Given the description of an element on the screen output the (x, y) to click on. 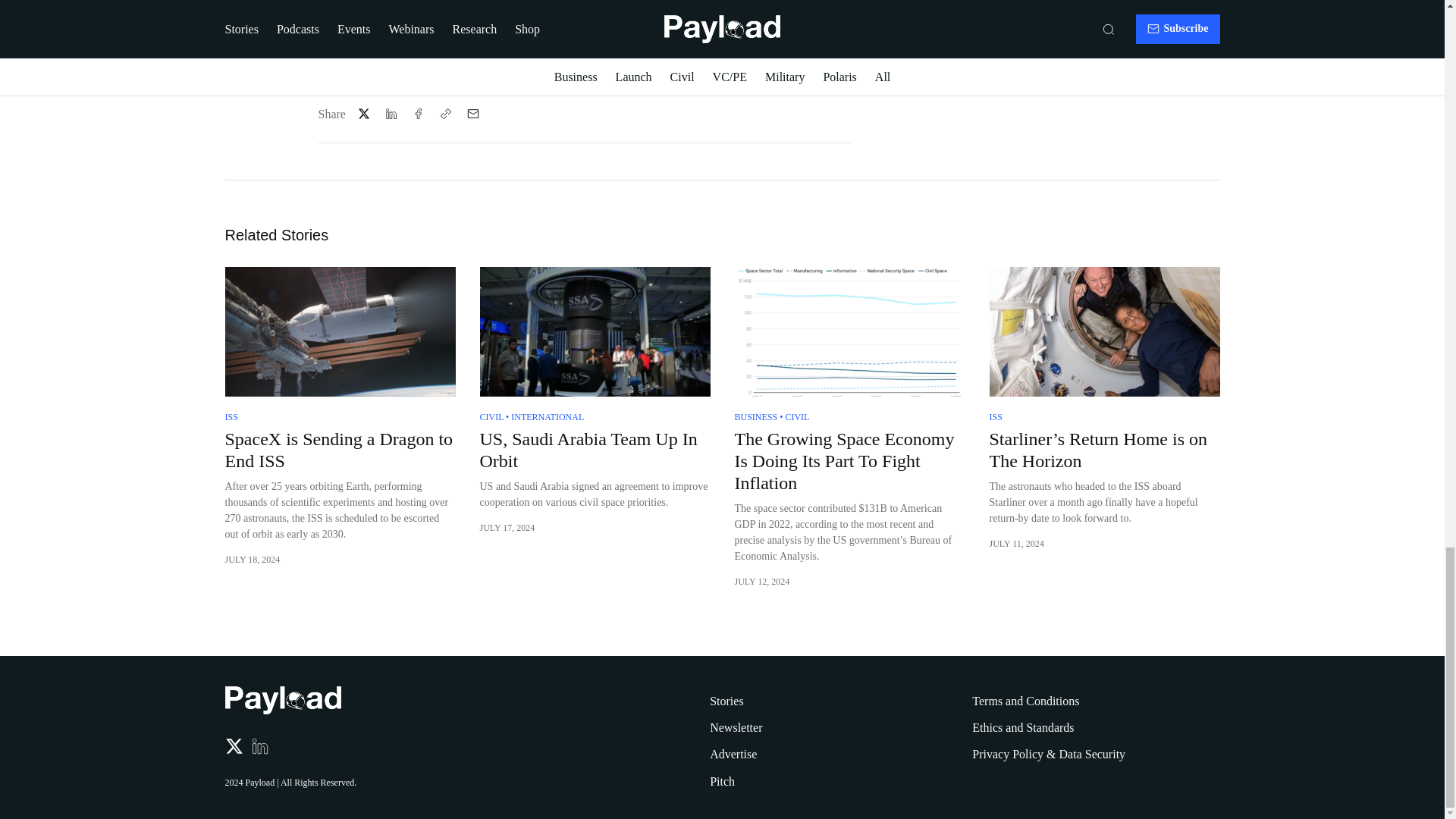
Copy to clipboard (445, 113)
